Given the description of an element on the screen output the (x, y) to click on. 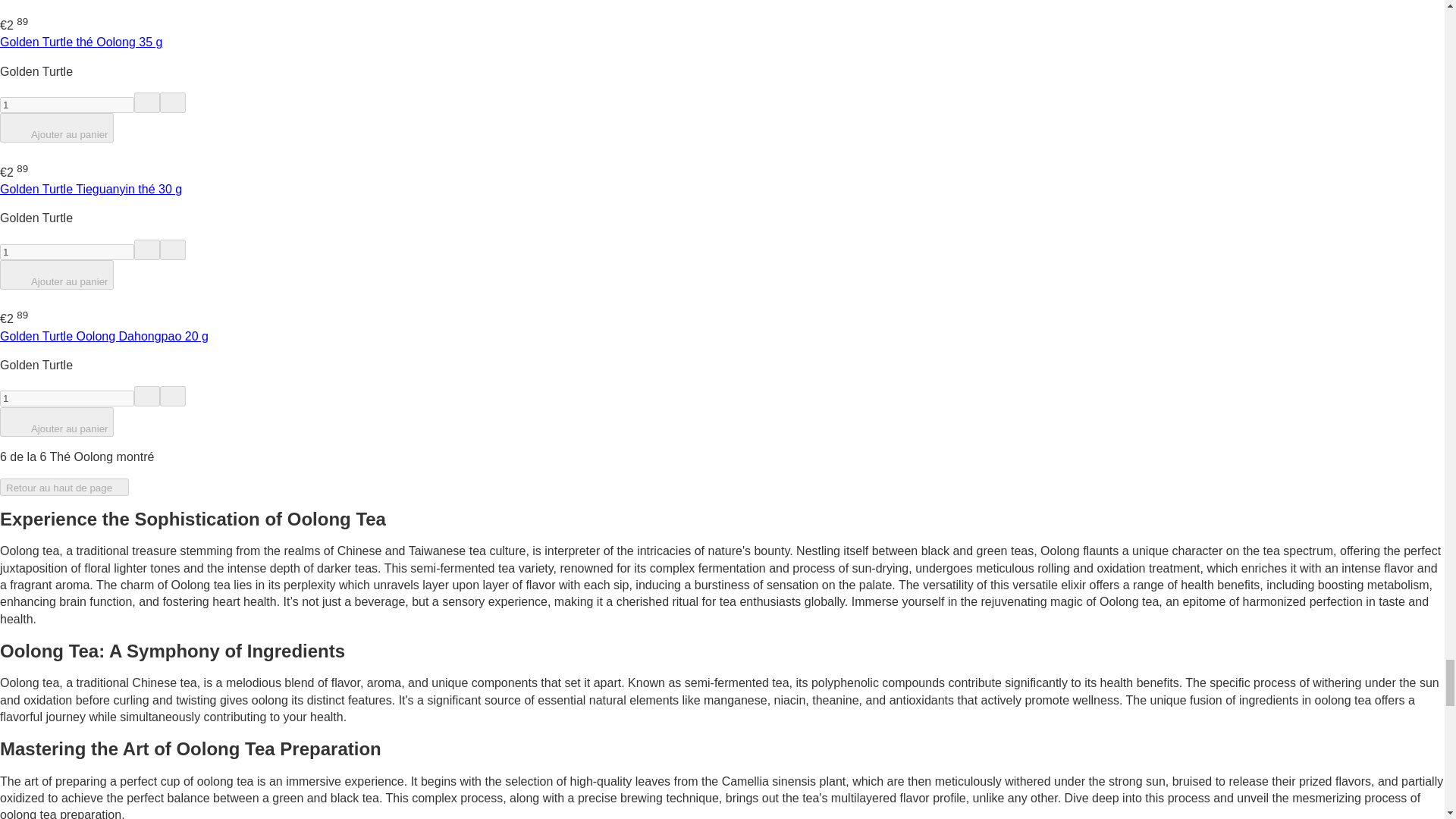
1 (66, 252)
1 (66, 105)
1 (66, 398)
